Given the description of an element on the screen output the (x, y) to click on. 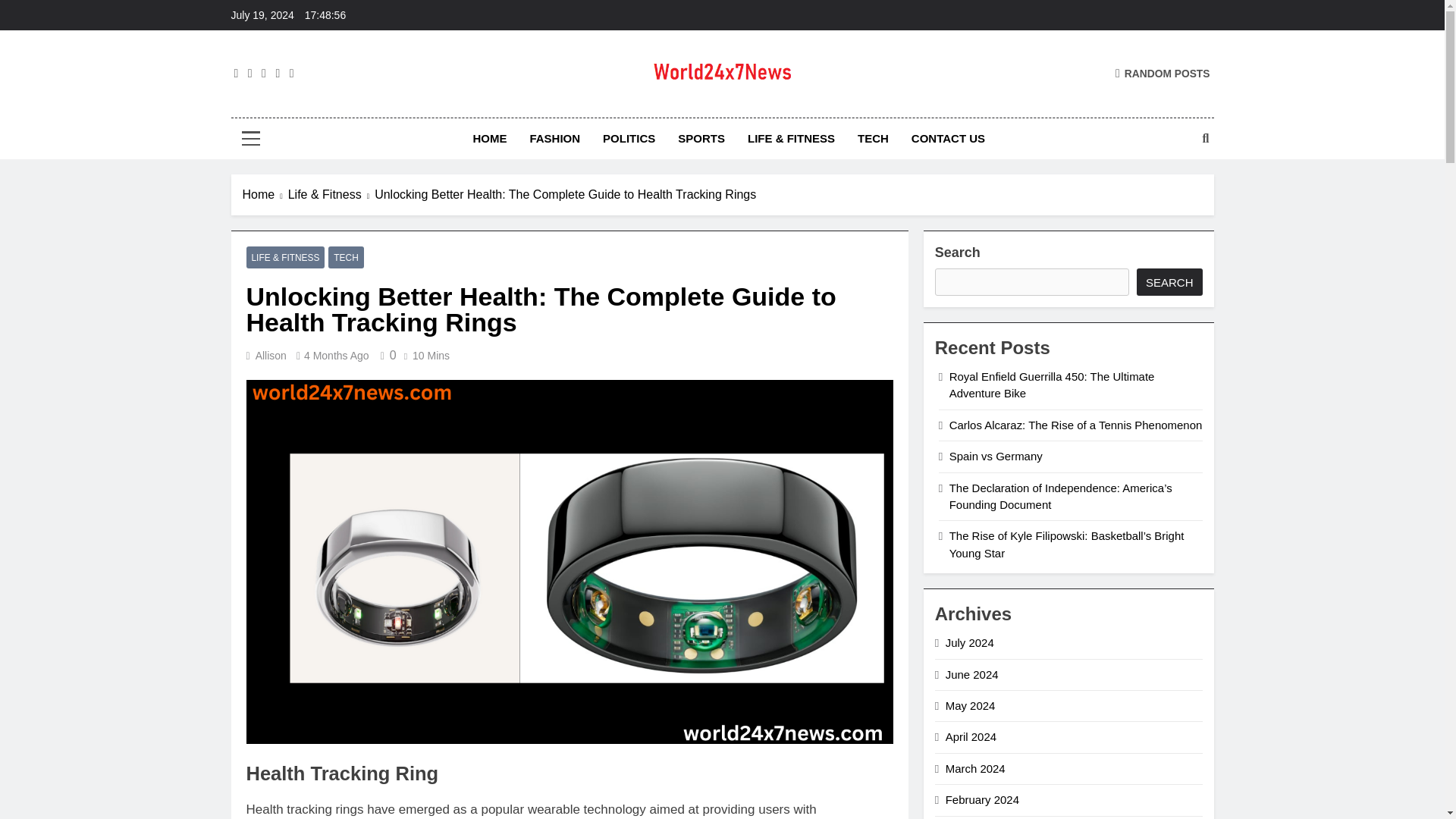
POLITICS (628, 137)
SPORTS (701, 137)
FASHION (554, 137)
HOME (489, 137)
RANDOM POSTS (1162, 72)
